Given the description of an element on the screen output the (x, y) to click on. 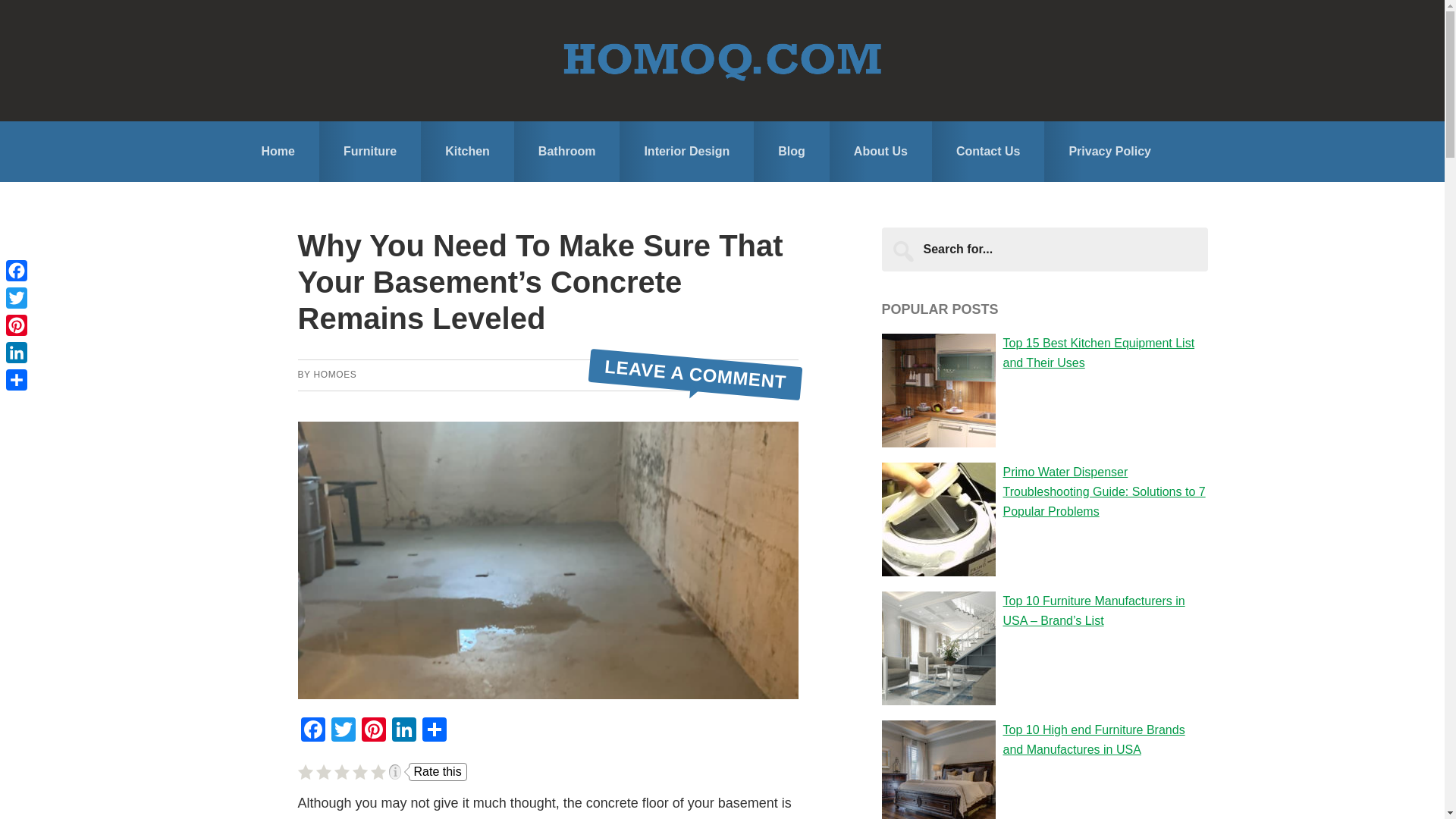
Twitter (16, 298)
Bathroom (566, 151)
Facebook (312, 731)
Twitter (342, 731)
Kitchen (466, 151)
Blog (791, 151)
Share (433, 731)
Twitter (342, 731)
Homoq (722, 60)
About Us (880, 151)
Facebook (16, 270)
Pinterest (373, 731)
LEAVE A COMMENT (695, 366)
Contact Us (987, 151)
